Given the description of an element on the screen output the (x, y) to click on. 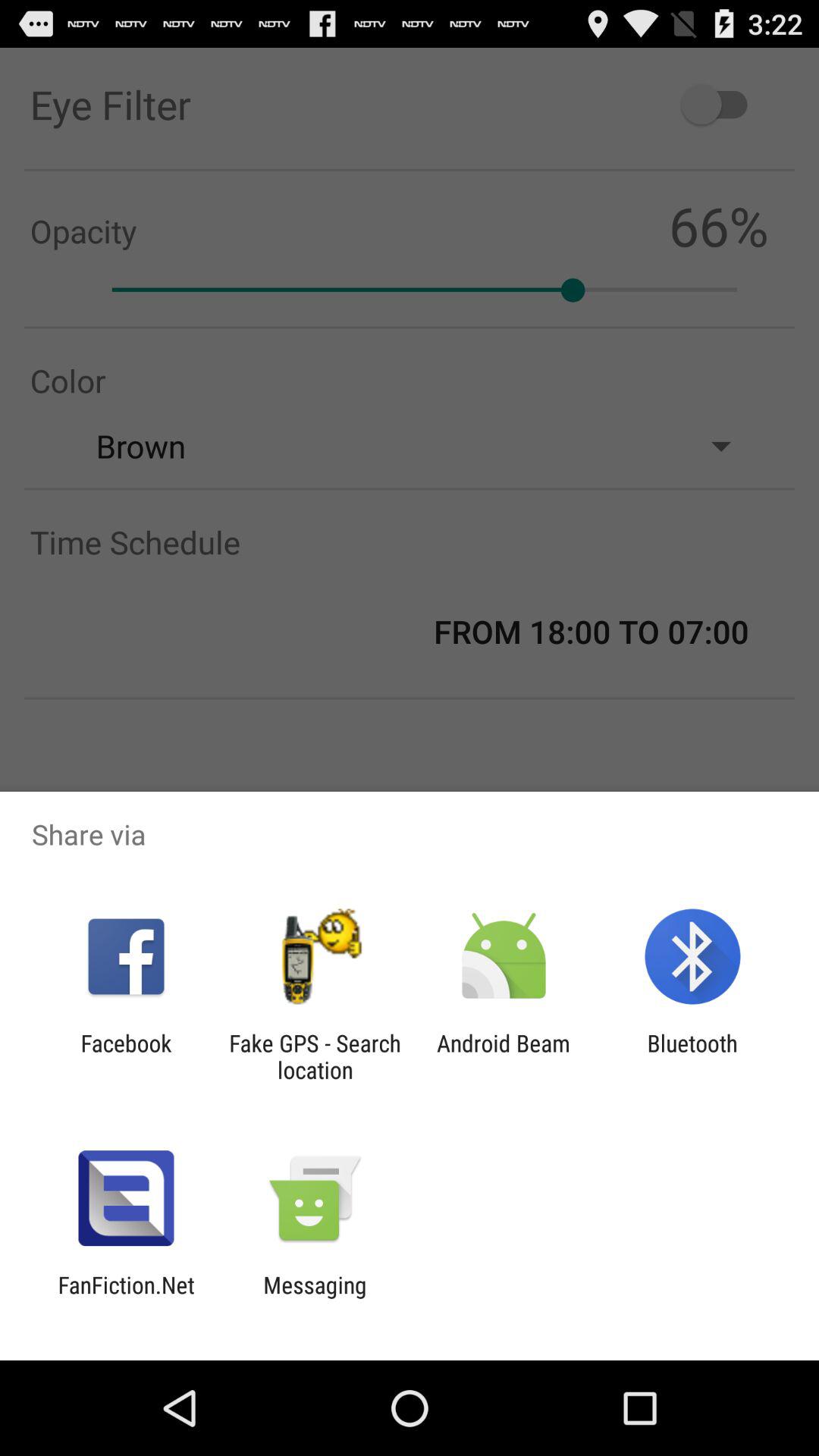
swipe until the bluetooth (692, 1056)
